Given the description of an element on the screen output the (x, y) to click on. 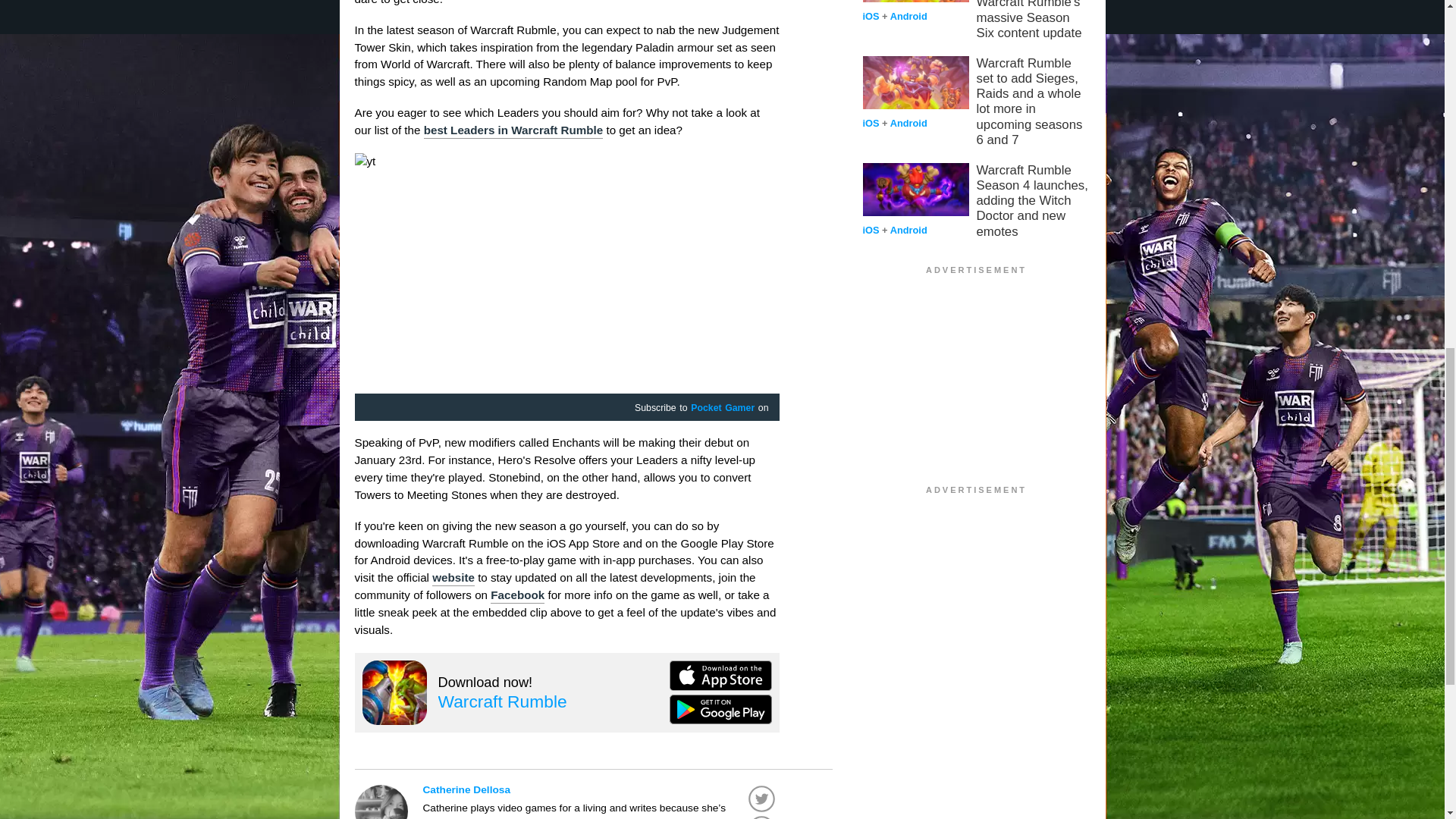
Warcraft Rumble (502, 701)
Facebook (517, 595)
website (453, 578)
best Leaders in Warcraft Rumble (513, 130)
Pocket Gamer (722, 408)
